Given the description of an element on the screen output the (x, y) to click on. 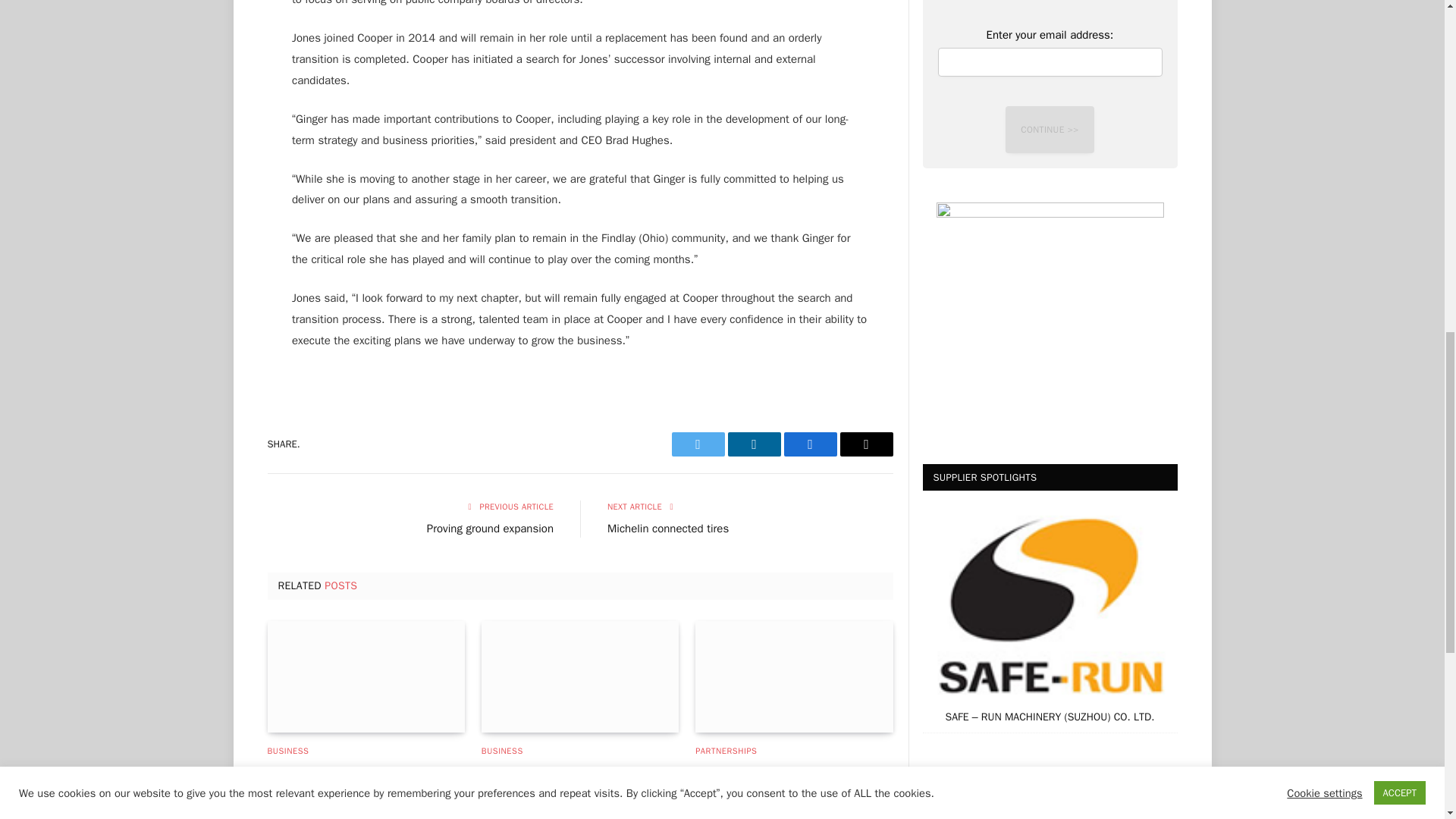
Share on Twitter (698, 444)
Share on LinkedIn (754, 444)
